Given the description of an element on the screen output the (x, y) to click on. 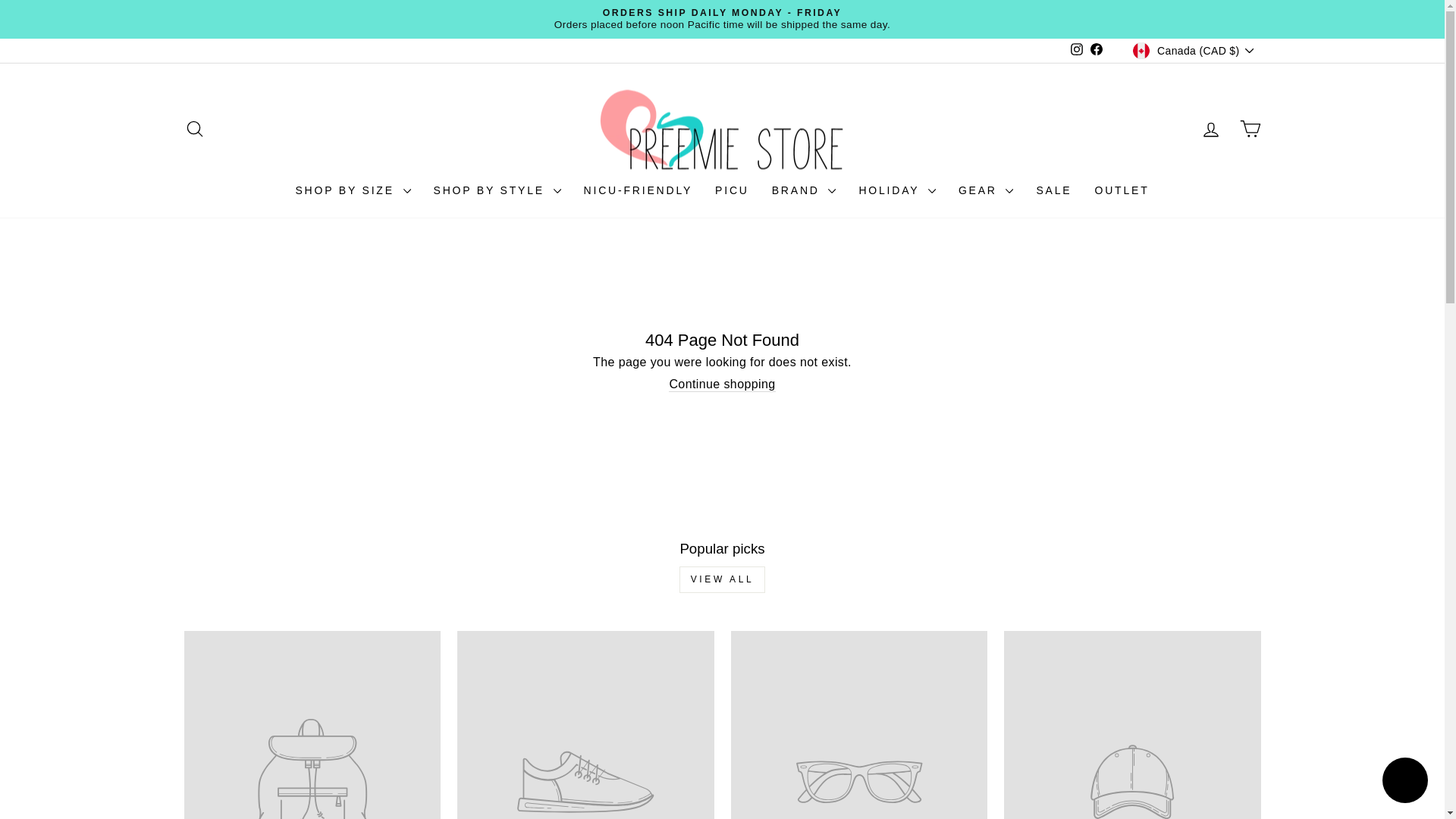
ICON-SEARCH (194, 128)
Preemie Store on Instagram (1076, 50)
instagram (1076, 49)
ACCOUNT (1210, 129)
Preemie Store on Facebook (1096, 50)
Shopify online store chat (1404, 781)
